Given the description of an element on the screen output the (x, y) to click on. 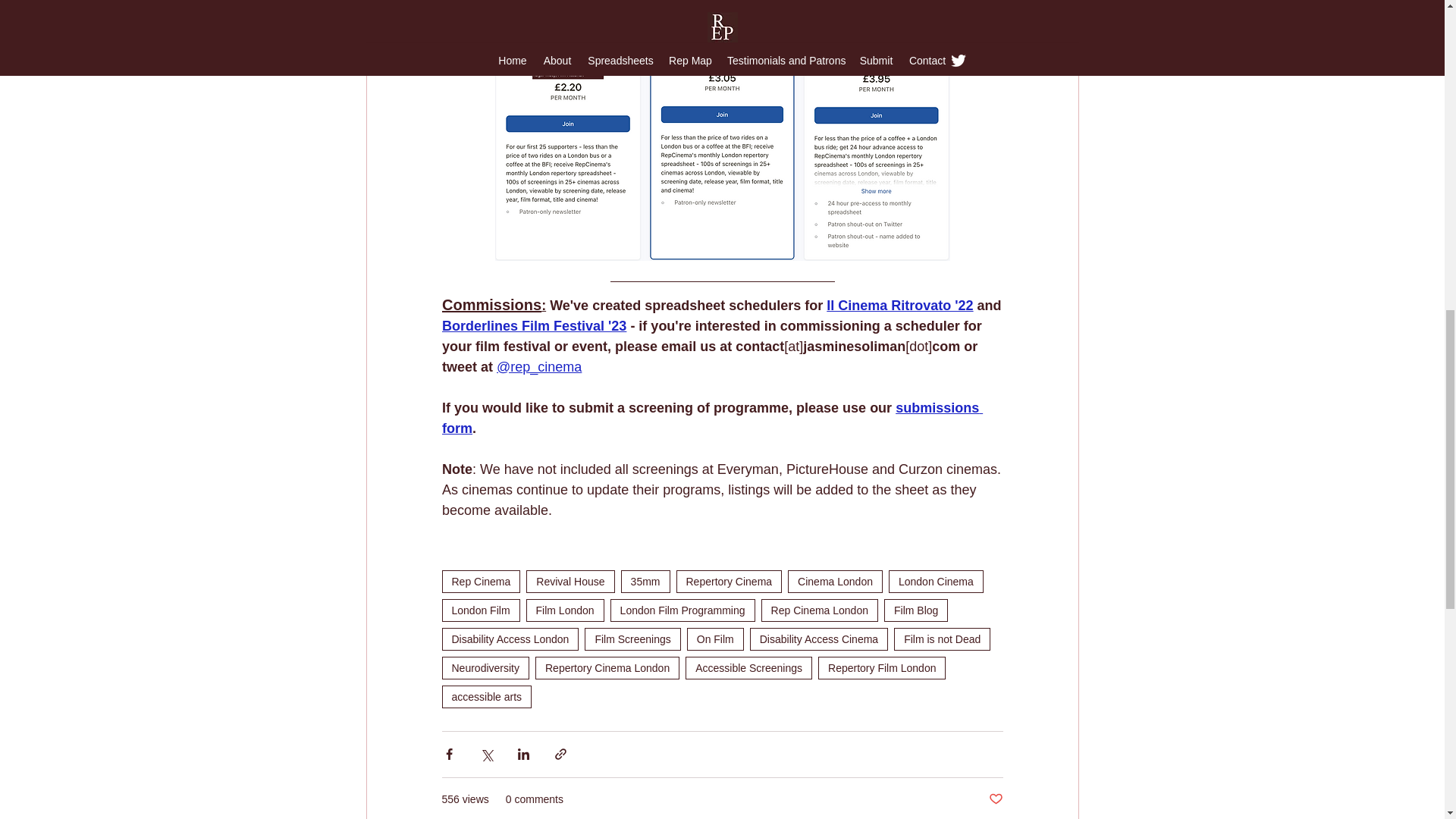
35mm (645, 581)
Film London (564, 609)
Il Cinema Ritrovato '22 (899, 305)
London Film Programming (682, 609)
Film Blog (915, 609)
Repertory Cinema (730, 581)
London Cinema (936, 581)
Cinema London (834, 581)
Borderlines Film Festival '23 (533, 325)
Rep Cinema (480, 581)
